Given the description of an element on the screen output the (x, y) to click on. 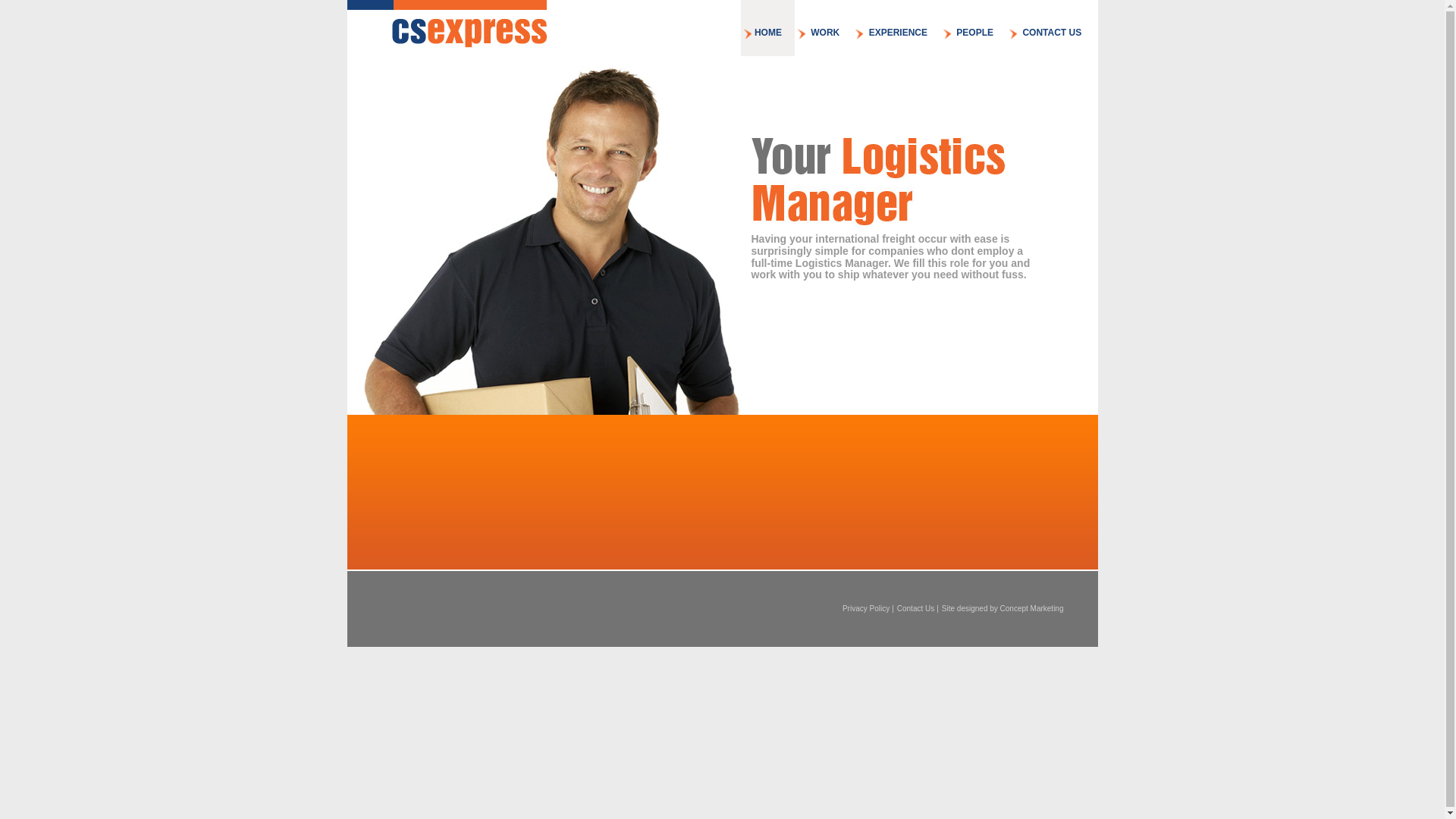
Privacy Policy Element type: text (865, 608)
Contact Us Element type: text (915, 608)
Site designed by Concept Marketing Element type: text (1002, 608)
